Given the description of an element on the screen output the (x, y) to click on. 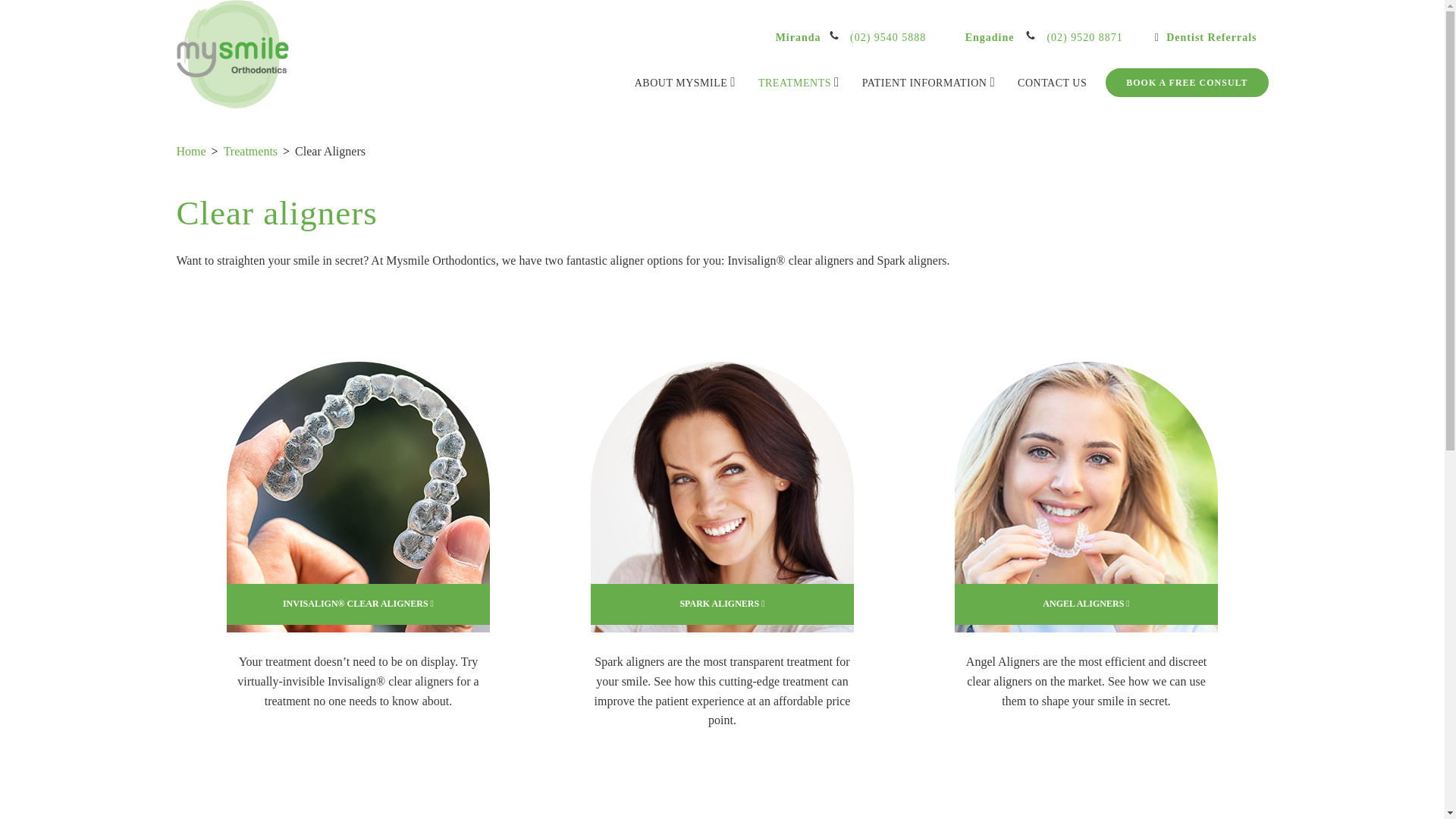
ABOUT MYSMILE (684, 82)
Dentist Referrals (1205, 37)
MySmile Orthodontics (232, 54)
Dentist Referrals (1205, 37)
PATIENT INFORMATION (928, 82)
Spark aligners (722, 496)
Home (190, 151)
Angel aligners (1086, 496)
BOOK A FREE CONSULT (1186, 82)
CONTACT US (1052, 82)
TREATMENTS (799, 82)
